Given the description of an element on the screen output the (x, y) to click on. 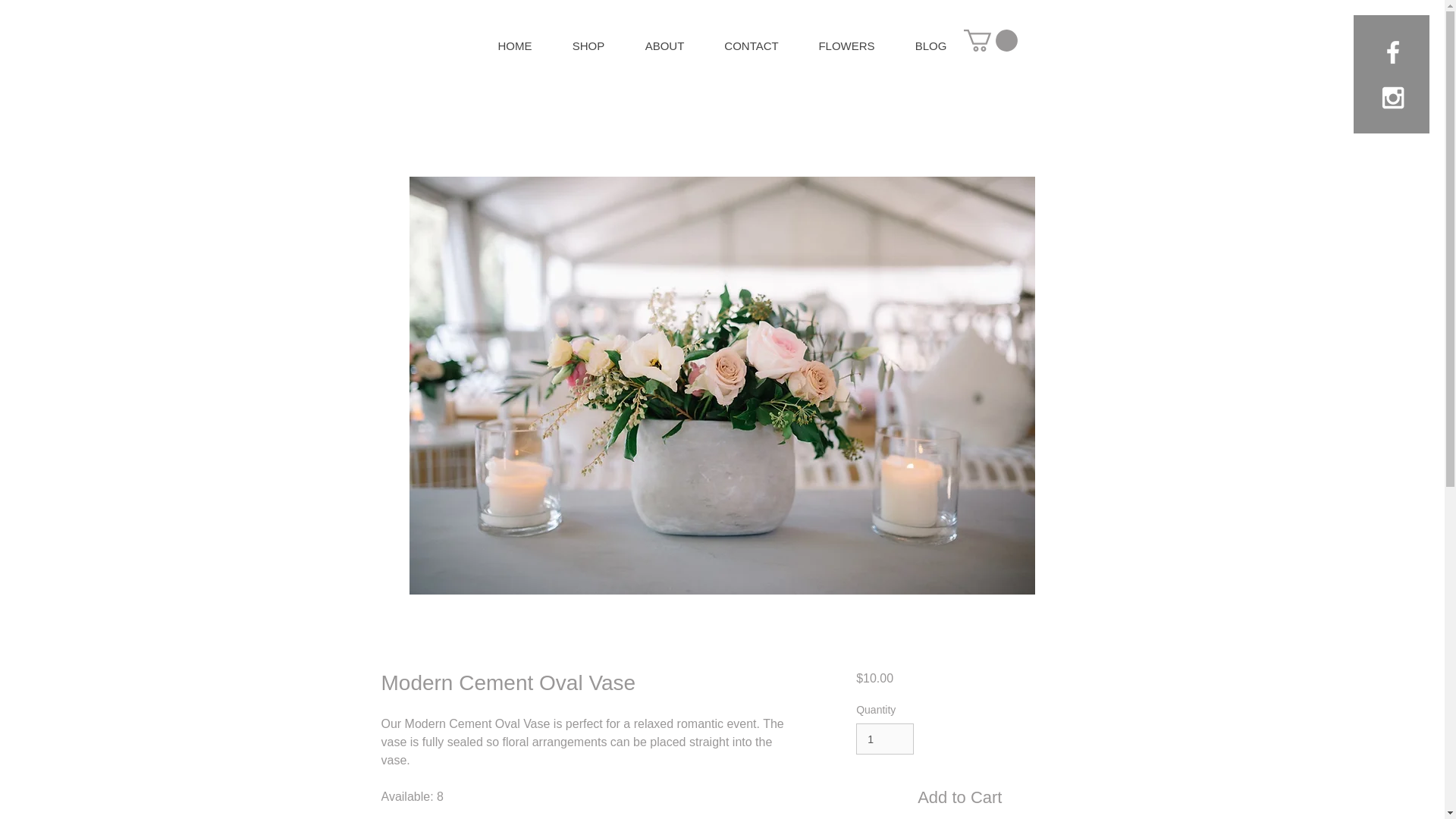
SHOP (587, 45)
BLOG (930, 45)
FLOWERS (845, 45)
1 (885, 738)
CONTACT (750, 45)
Add to Cart (959, 796)
ABOUT (664, 45)
HOME (514, 45)
